Given the description of an element on the screen output the (x, y) to click on. 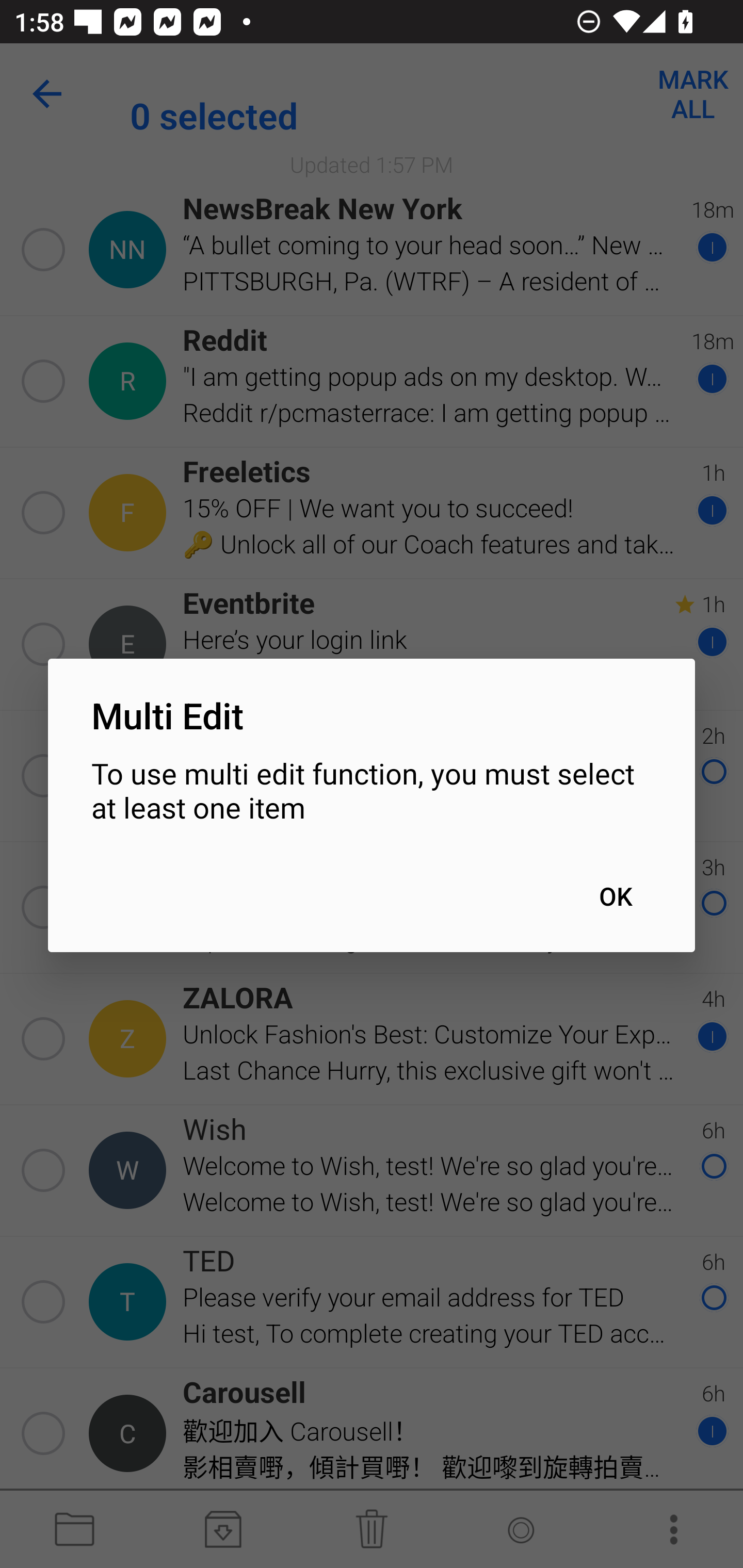
OK (615, 895)
